Given the description of an element on the screen output the (x, y) to click on. 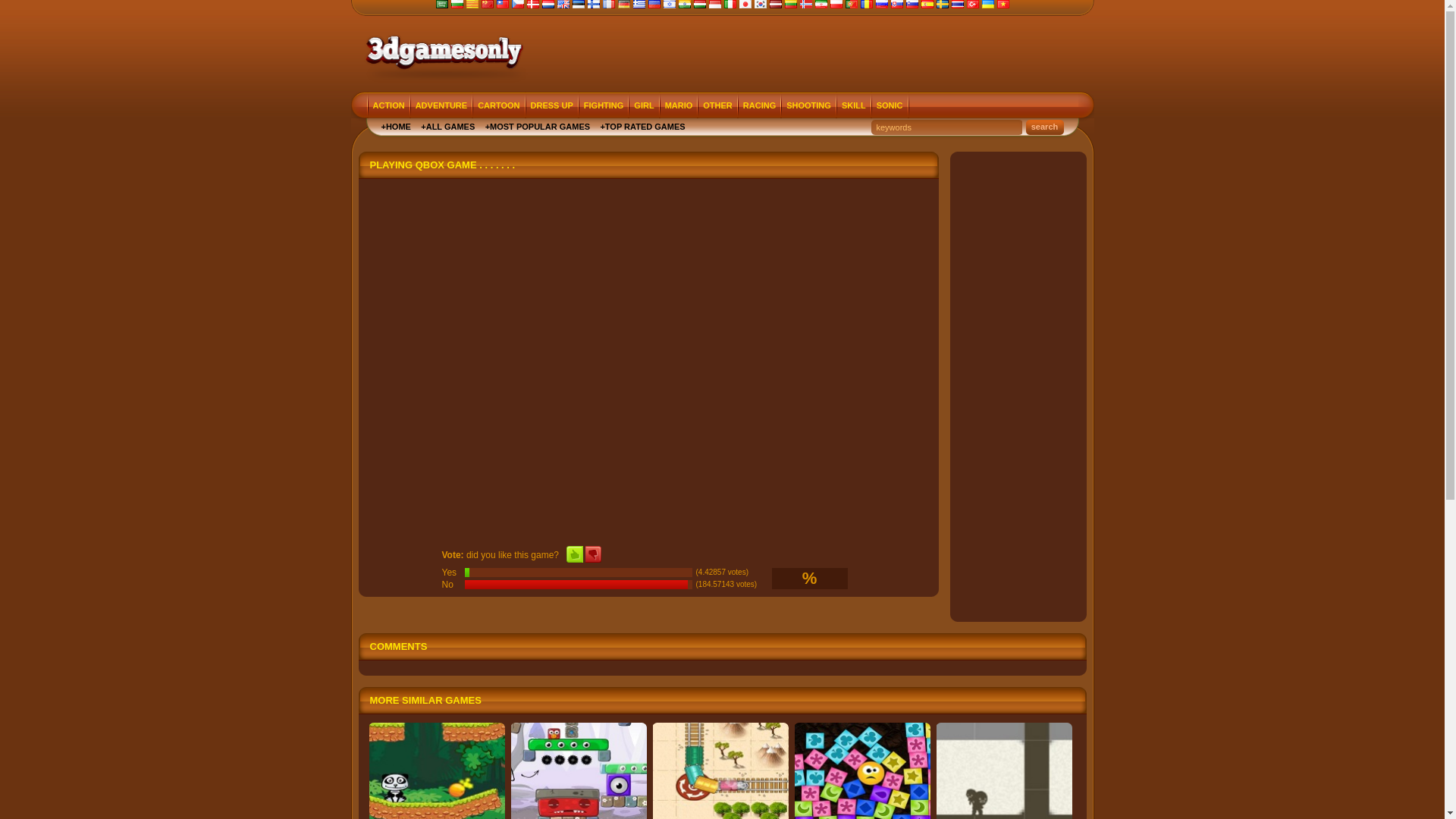
GIRL Element type: text (643, 105)
OTHER Element type: text (717, 105)
Nederlands Element type: hover (547, 5)
Eesti Element type: hover (577, 5)
DRESS UP Element type: text (551, 105)
Deutsch Element type: hover (623, 5)
MARIO Element type: text (678, 105)
Advertisement Element type: hover (806, 53)
Slovenski Element type: hover (911, 5)
SHOOTING Element type: text (808, 105)
search Element type: text (1044, 126)
RACING Element type: text (759, 105)
Ayiti kreooli Element type: hover (653, 5)
+MOST POPULAR GAMES Element type: text (537, 126)
+ALL GAMES Element type: text (447, 126)
SKILL Element type: text (853, 105)
Yes Element type: text (574, 554)
ADVENTURE Element type: text (441, 105)
Polski Element type: hover (835, 5)
No Element type: text (593, 554)
English Element type: hover (562, 5)
Magyar Element type: hover (699, 5)
CARTOON Element type: text (498, 105)
Bahasa Indonesia Element type: hover (714, 5)
Svenska Element type: hover (941, 5)
ACTION Element type: text (388, 105)
Norsk Element type: hover (805, 5)
+HOME Element type: text (395, 126)
Dansk Element type: hover (532, 5)
+TOP RATED GAMES Element type: text (641, 126)
FIGHTING Element type: text (603, 105)
3dgamesonly.com Element type: text (441, 50)
Italiano Element type: hover (729, 5)
Suomi Element type: hover (592, 5)
SONIC Element type: text (889, 105)
